Given the description of an element on the screen output the (x, y) to click on. 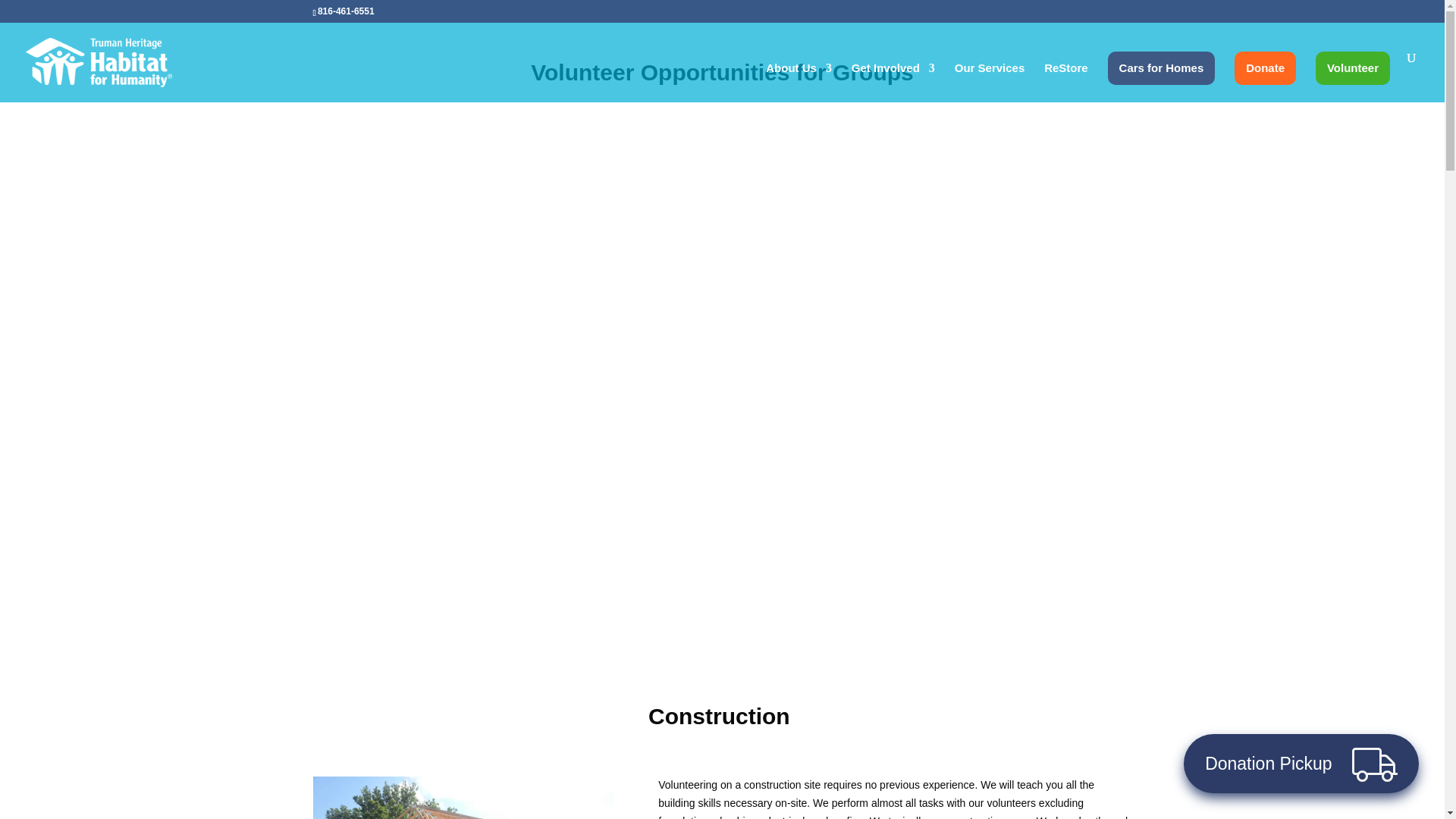
Volunteer (1353, 68)
Donate (1264, 68)
Our Services (990, 82)
Get Involved (892, 82)
About Us (798, 82)
Learn More (937, 555)
ReStore (1065, 82)
Learn More (504, 563)
Cars for Homes (1161, 68)
